Given the description of an element on the screen output the (x, y) to click on. 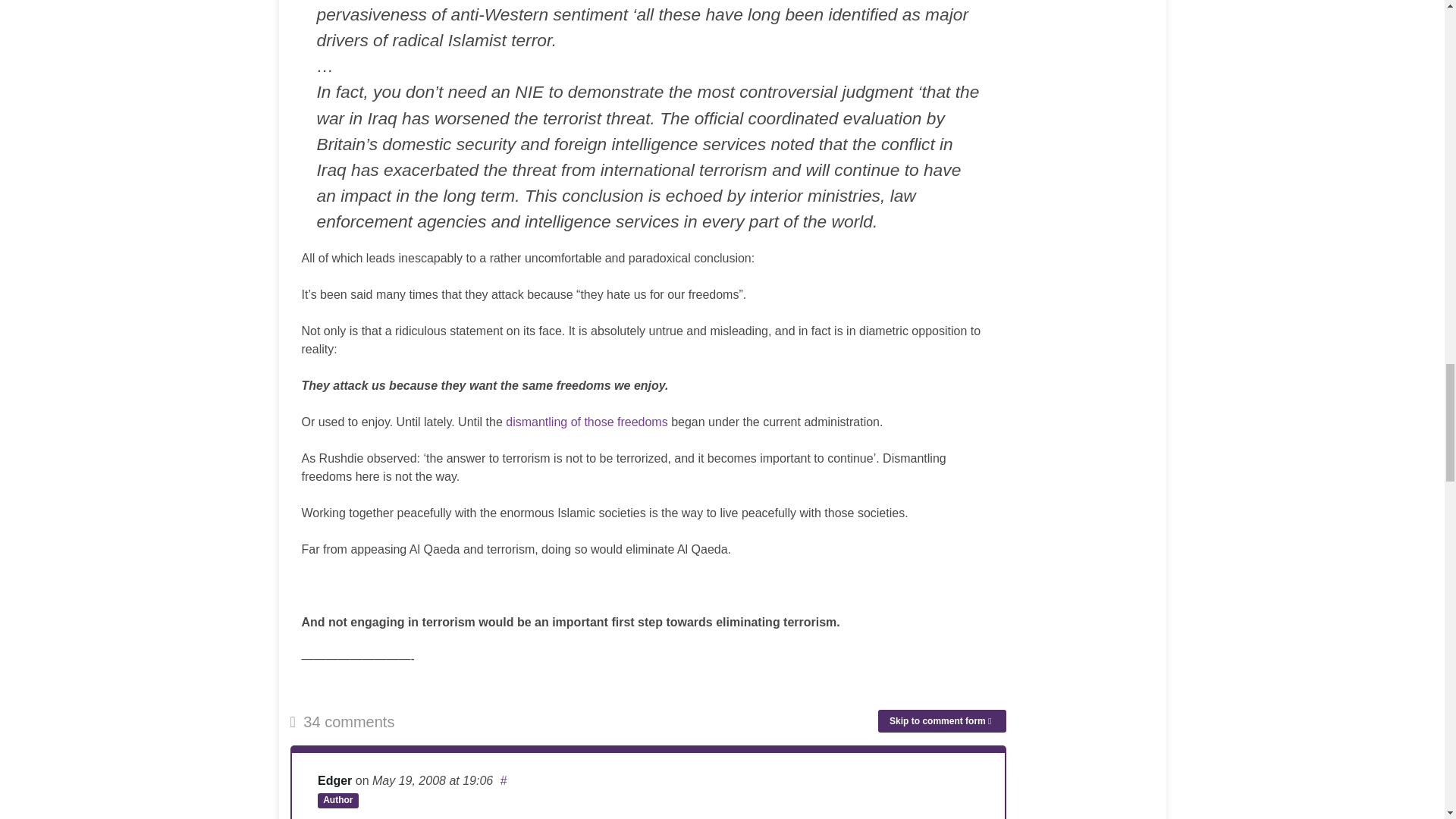
Edger (334, 780)
dismantling of those freedoms (585, 421)
Skip to comment form (941, 721)
